Given the description of an element on the screen output the (x, y) to click on. 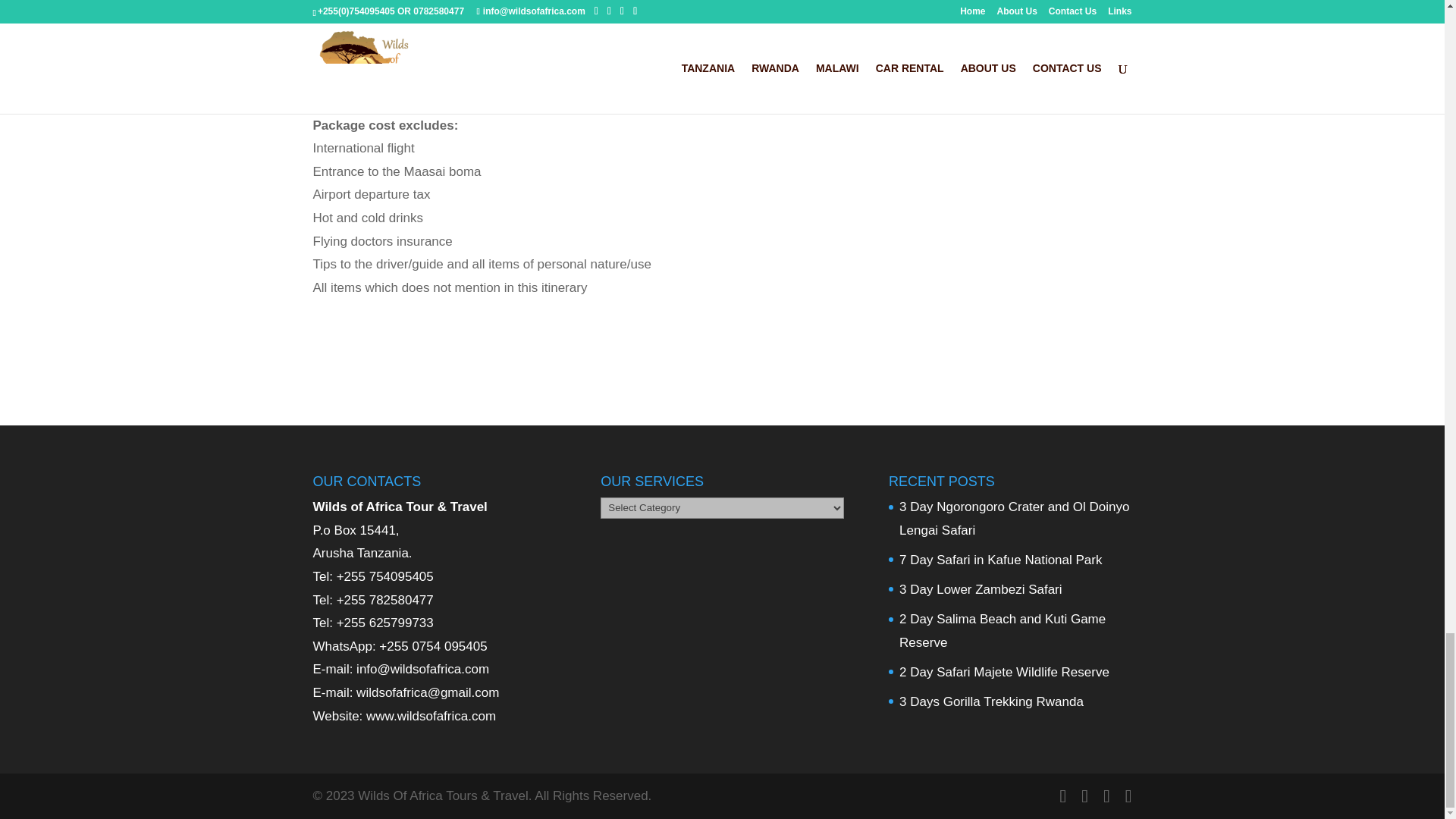
2 Day Salima Beach and Kuti Game Reserve (1002, 630)
3 Days Gorilla Trekking Rwanda (991, 701)
3 Day Ngorongoro Crater and Ol Doinyo Lengai Safari (1014, 518)
2 Day Safari Majete Wildlife Reserve (1004, 672)
7 Day Safari in Kafue National Park (1000, 559)
3 Day Lower Zambezi Safari (980, 589)
